Given the description of an element on the screen output the (x, y) to click on. 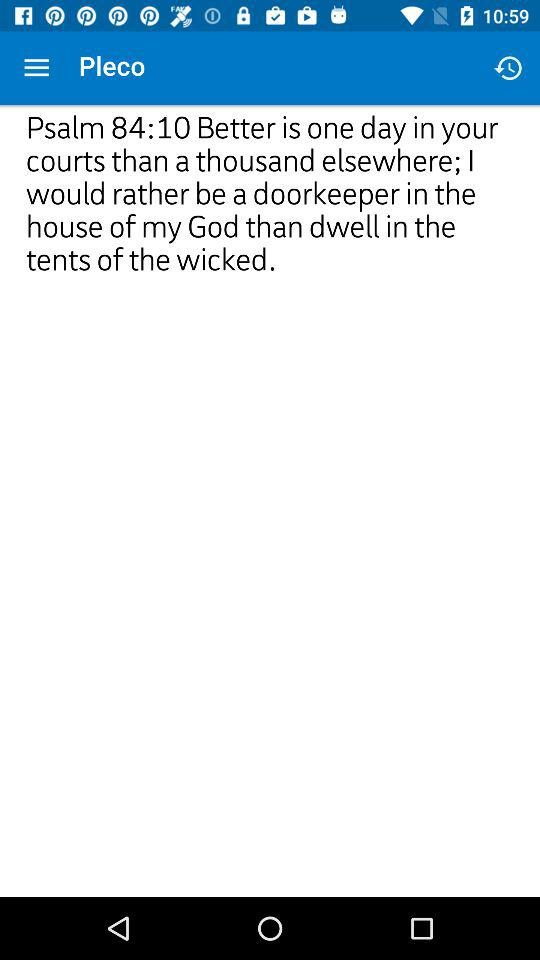
tap the icon to the right of pleco item (508, 67)
